Given the description of an element on the screen output the (x, y) to click on. 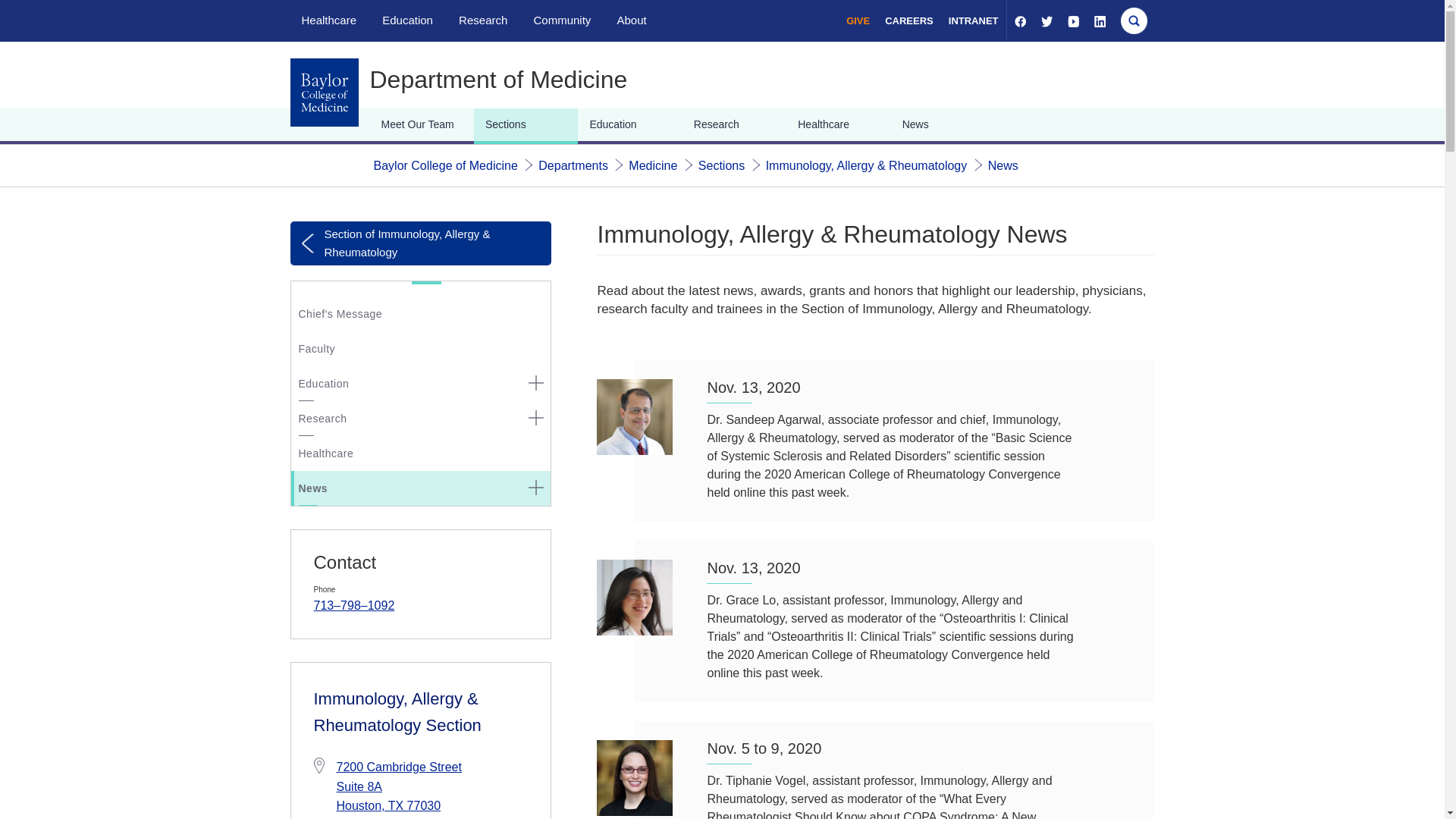
Sections (721, 164)
Departments (573, 164)
Medicine (652, 164)
Education (406, 19)
Healthcare (328, 19)
News (1002, 164)
Baylor College of Medicine (444, 164)
